Given the description of an element on the screen output the (x, y) to click on. 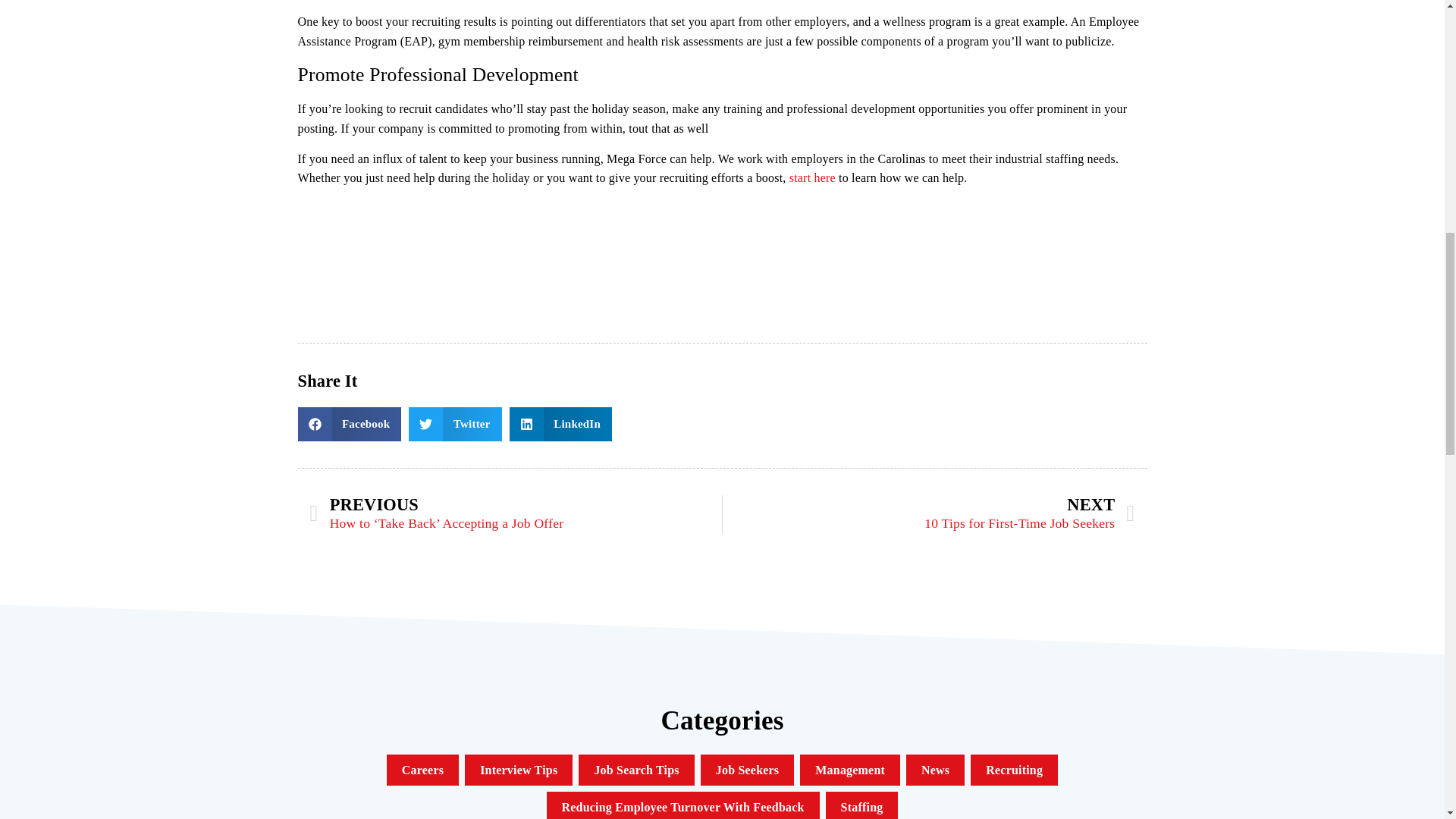
Staffing (862, 807)
Job Search Tips (935, 514)
Management (636, 769)
Careers (850, 769)
News (422, 769)
Reducing Employee Turnover With Feedback (935, 769)
Recruiting (683, 807)
Job Seekers (1013, 769)
start here (747, 769)
